Given the description of an element on the screen output the (x, y) to click on. 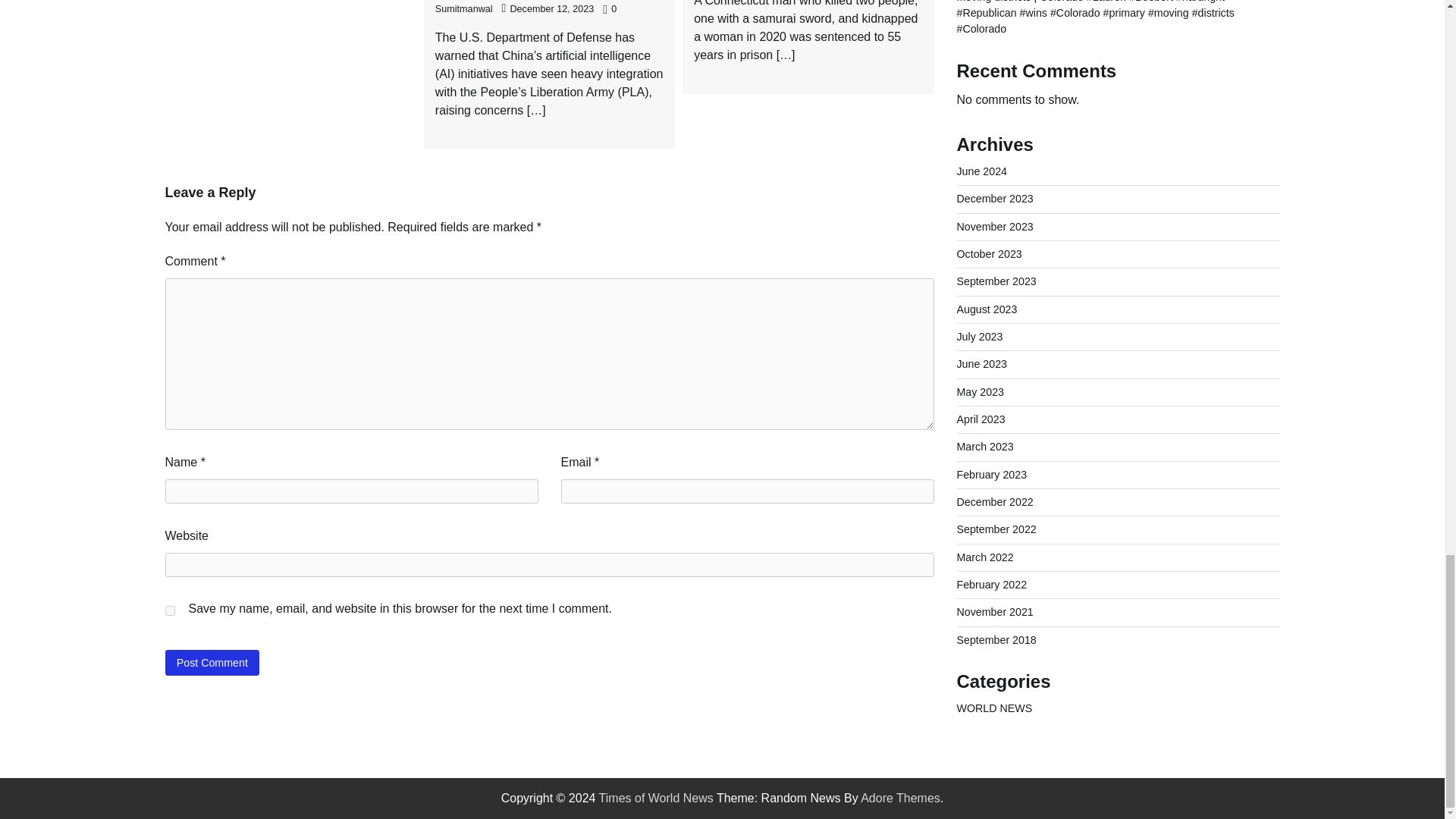
Post Comment (212, 662)
Post Comment (212, 662)
Sumitmanwal (464, 9)
yes (169, 610)
